Given the description of an element on the screen output the (x, y) to click on. 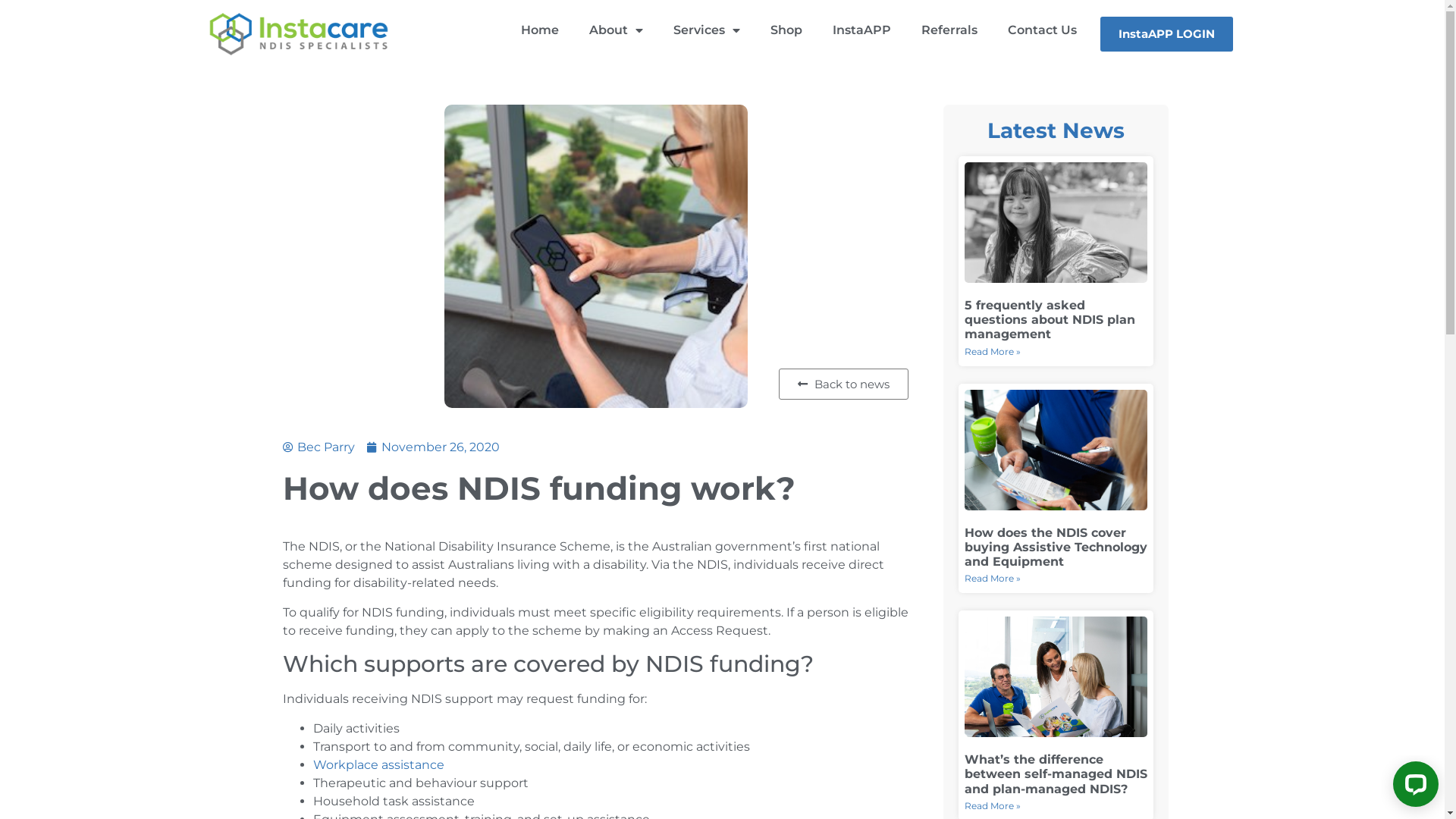
Back to news Element type: text (843, 383)
About Element type: text (616, 29)
Contact Us Element type: text (1042, 29)
5 frequently asked questions about NDIS plan management Element type: text (1049, 319)
InstaAPP Element type: text (861, 29)
Shop Element type: text (786, 29)
Referrals Element type: text (949, 29)
Workplace assistance Element type: text (377, 764)
InstaAPP LOGIN Element type: text (1166, 34)
November 26, 2020 Element type: text (433, 447)
Bec Parry Element type: text (318, 447)
Services Element type: text (706, 29)
Home Element type: text (539, 29)
